Given the description of an element on the screen output the (x, y) to click on. 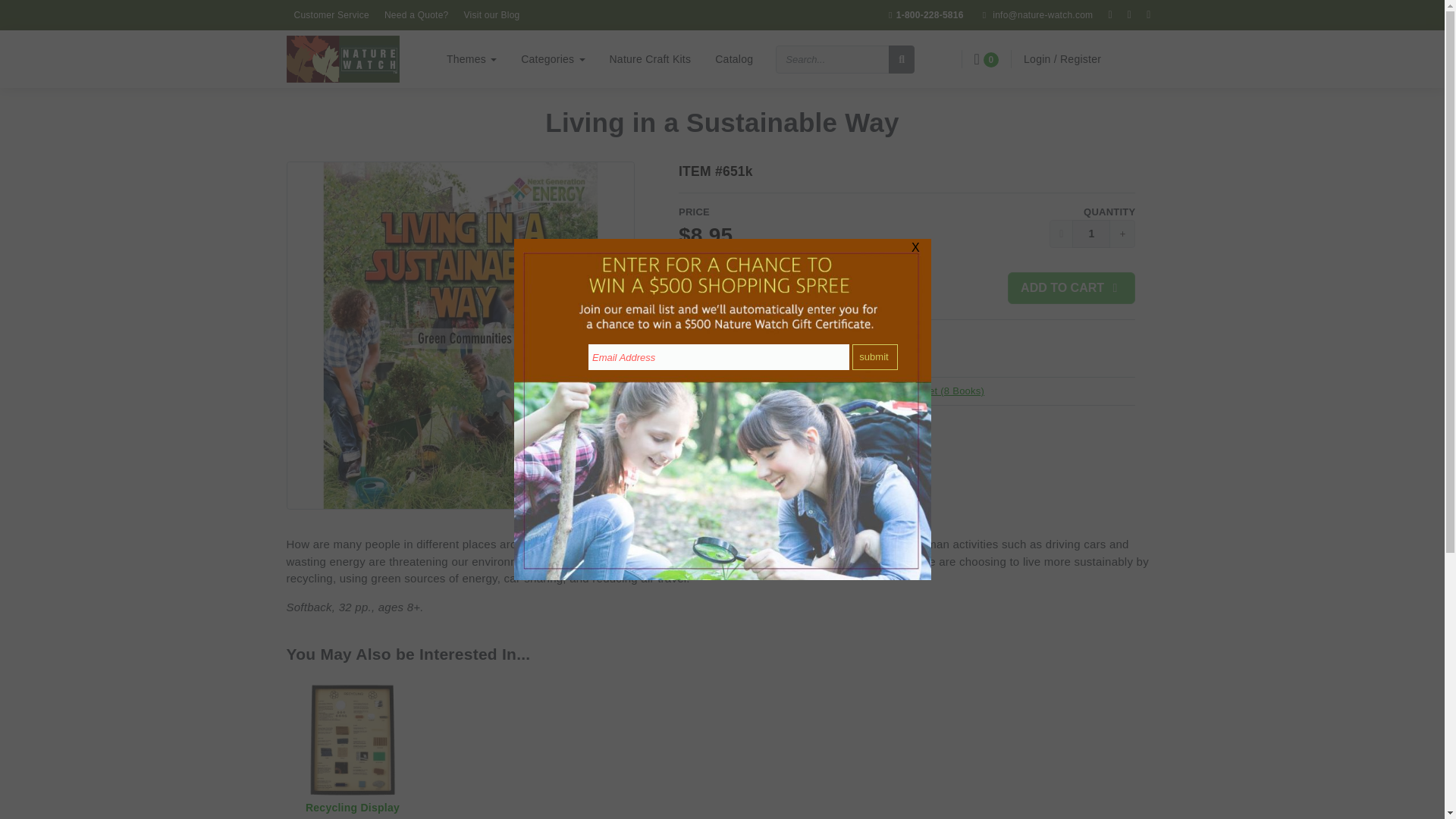
1 (1090, 234)
Customer Service (331, 15)
Need a Quote? (417, 15)
Visit our Blog (492, 15)
1-800-228-5816 (924, 15)
Themes (470, 58)
